Given the description of an element on the screen output the (x, y) to click on. 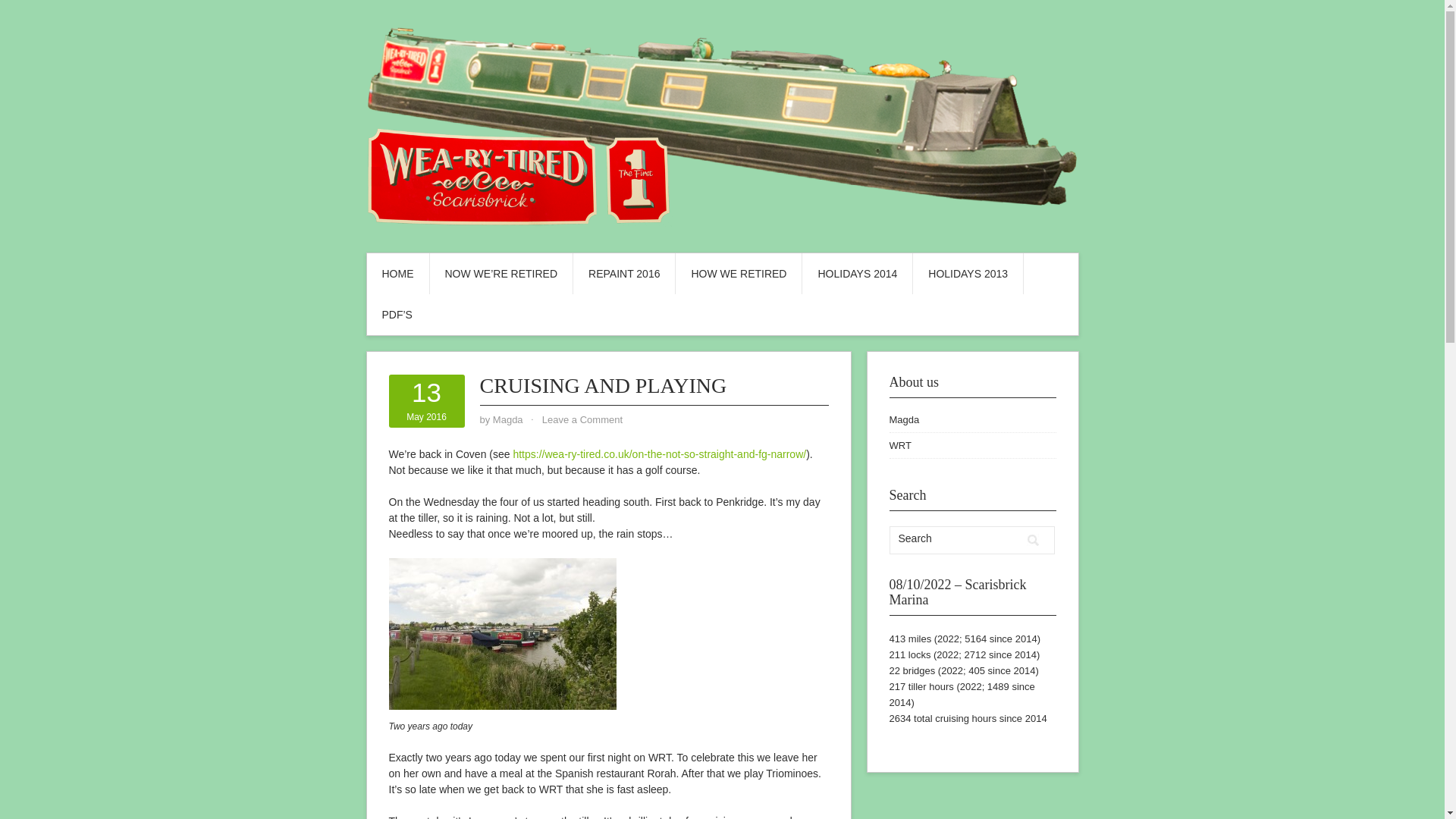
by Magda (507, 419)
Search (954, 537)
Search (426, 400)
May 13, 2016 8:01 am (1032, 539)
Search (426, 400)
REPAINT 2016 (1032, 539)
HOLIDAYS 2013 (624, 273)
Leave a Comment (967, 273)
HOW WE RETIRED (582, 419)
WRT (738, 273)
HOME (899, 445)
Magda (397, 273)
Magda (903, 419)
HOLIDAYS 2014 (507, 419)
